Given the description of an element on the screen output the (x, y) to click on. 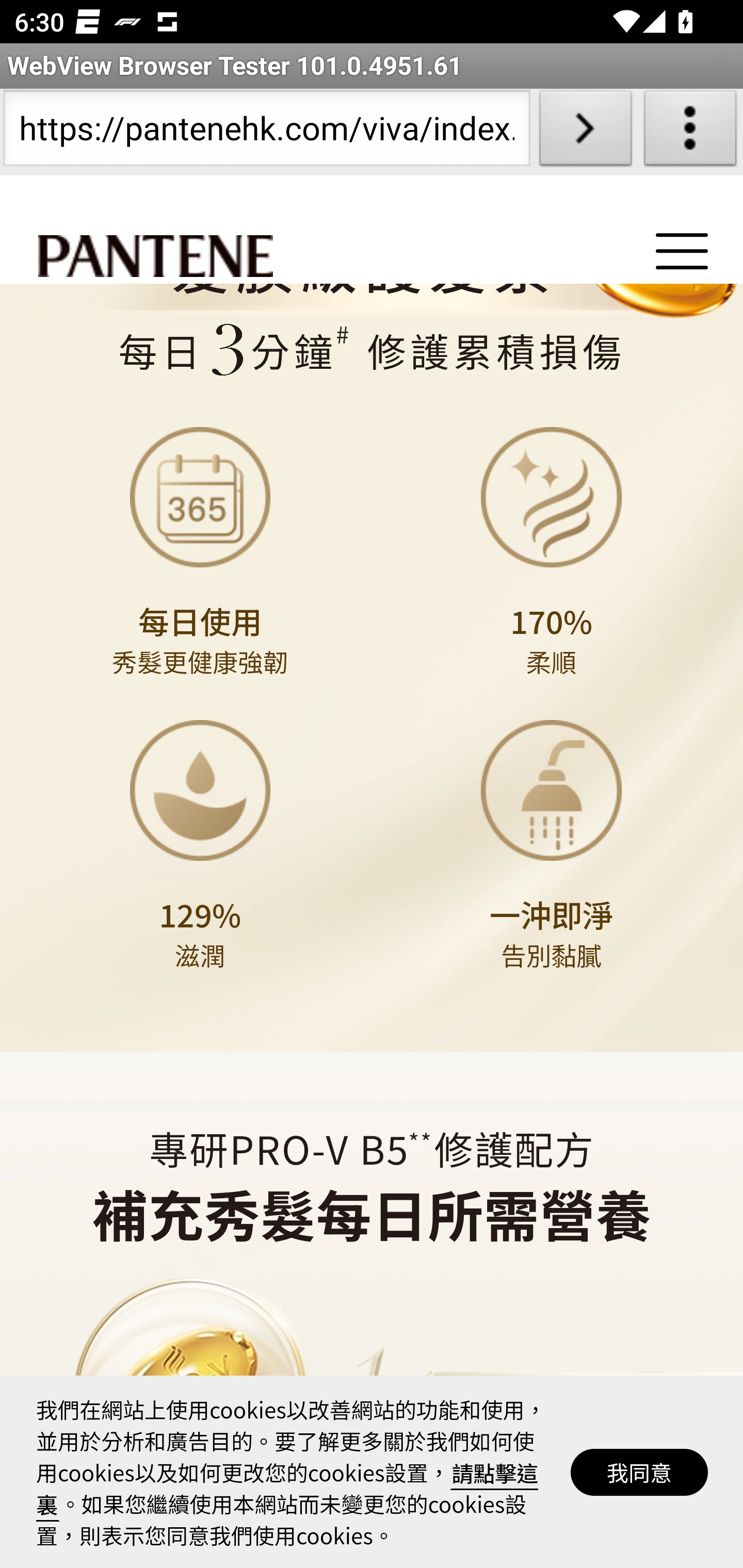
Load URL (585, 132)
About WebView (690, 132)
pantene 潘婷 PANTENE logo pantene 潘婷 PANTENE logo (155, 256)
我同意 (639, 1472)
請點擊這裏 (287, 1487)
